Given the description of an element on the screen output the (x, y) to click on. 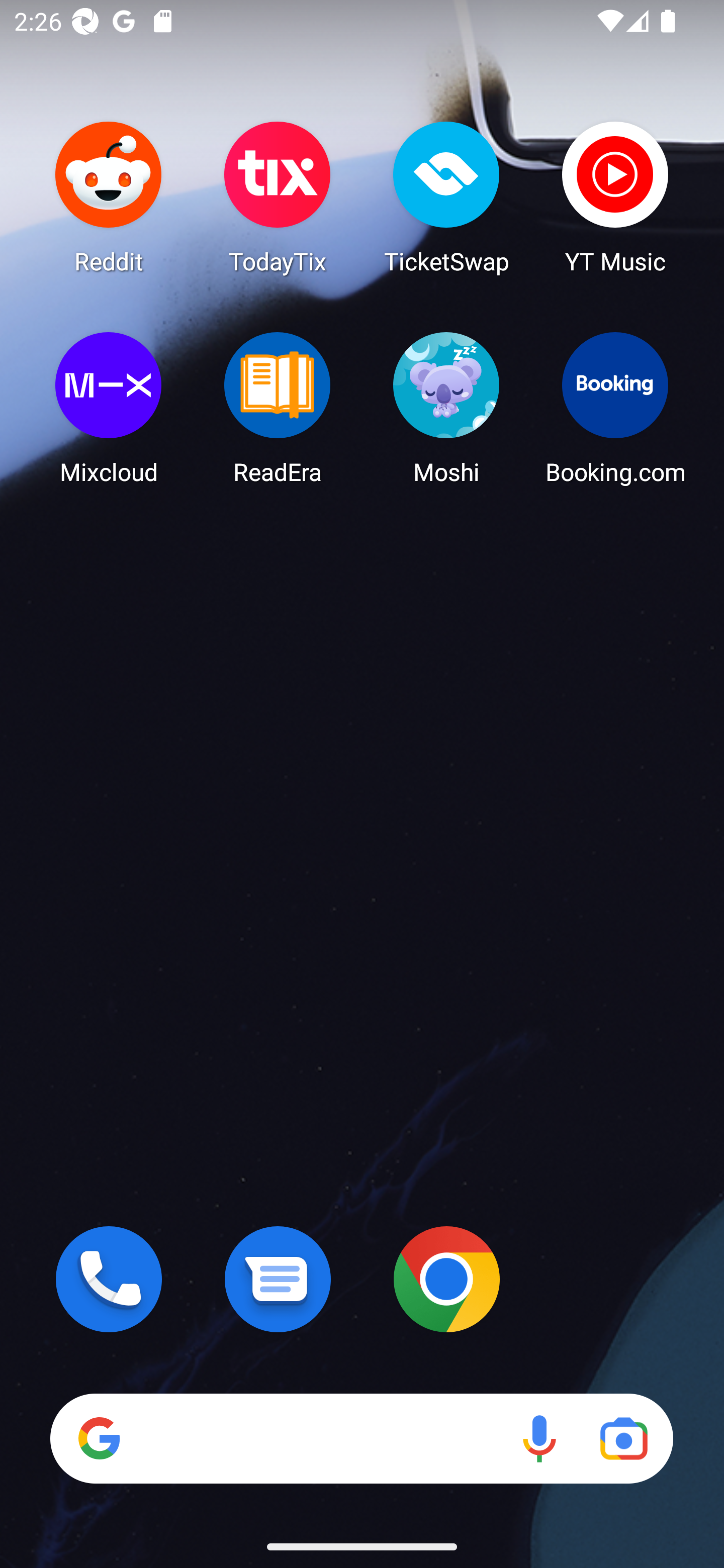
Reddit (108, 196)
TodayTix (277, 196)
TicketSwap (445, 196)
YT Music (615, 196)
Mixcloud (108, 407)
ReadEra (277, 407)
Moshi (445, 407)
Booking.com (615, 407)
Phone (108, 1279)
Messages (277, 1279)
Chrome (446, 1279)
Search Voice search Google Lens (361, 1438)
Voice search (539, 1438)
Google Lens (623, 1438)
